Given the description of an element on the screen output the (x, y) to click on. 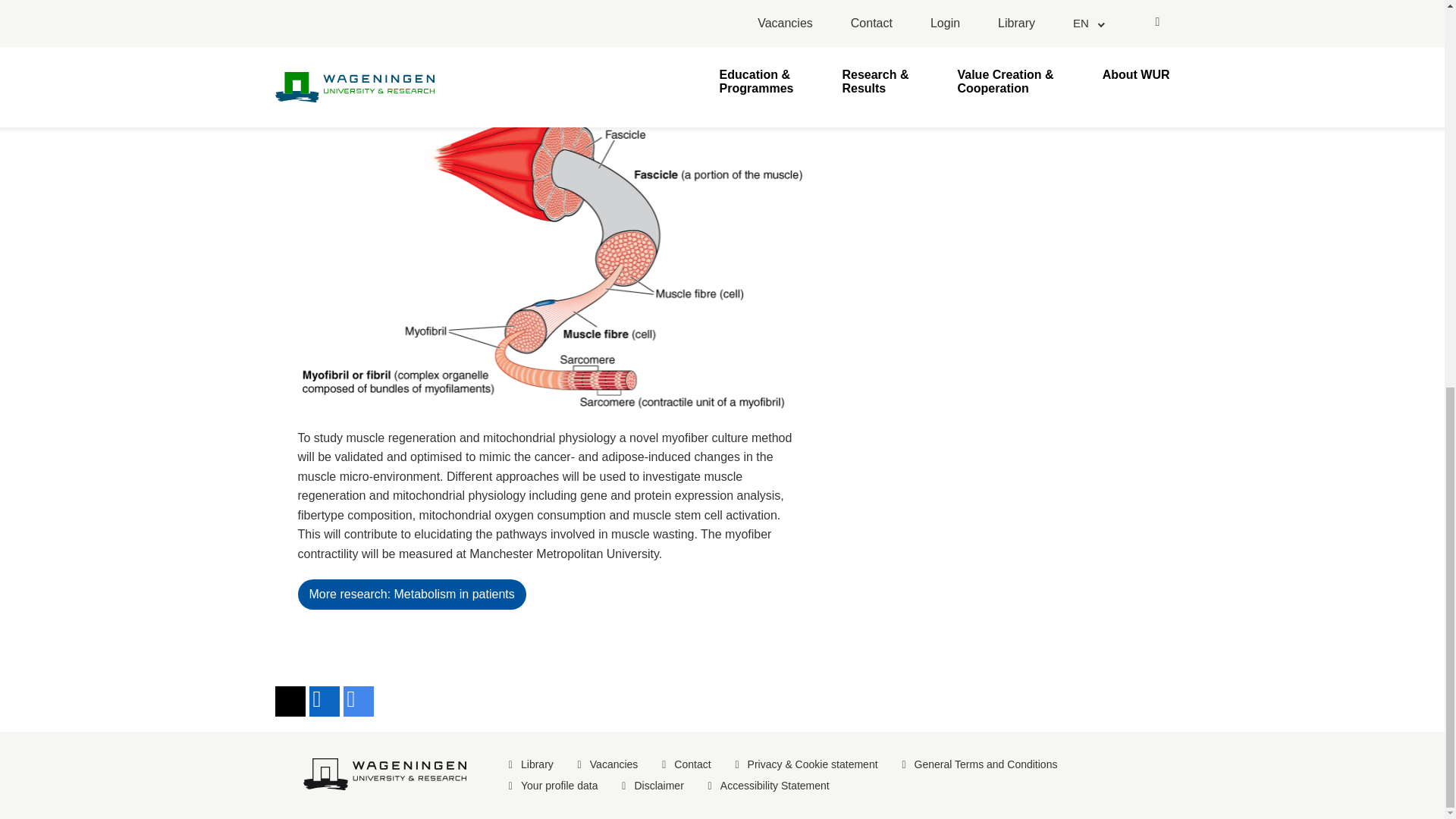
Contact (692, 764)
Library (537, 764)
Vacancies (614, 764)
